Given the description of an element on the screen output the (x, y) to click on. 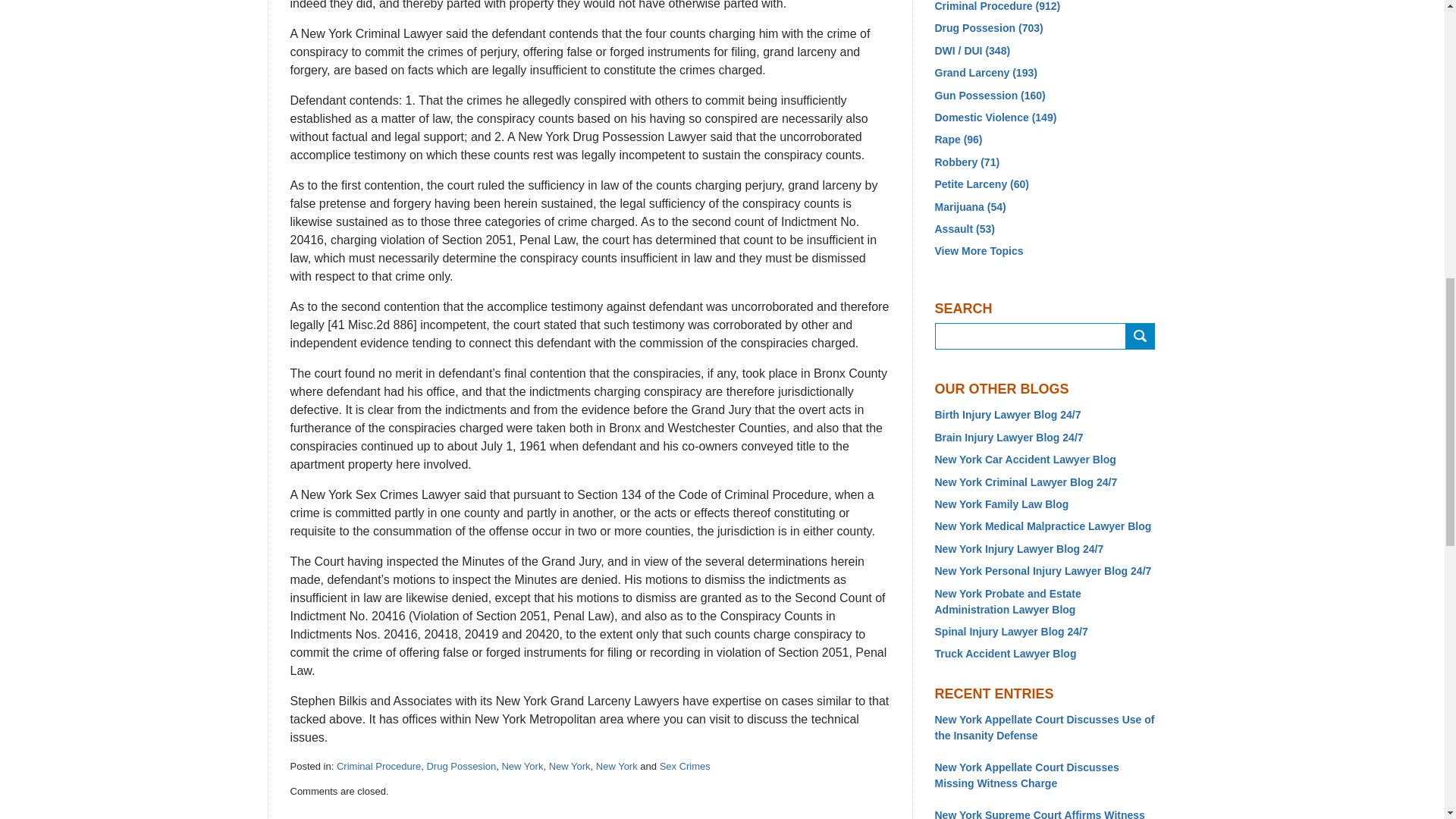
Drug Possesion (461, 766)
New York (521, 766)
New York (616, 766)
Criminal Procedure (378, 766)
View all posts in Drug Possesion (461, 766)
New York (569, 766)
Sex Crimes (684, 766)
View all posts in Criminal Procedure (378, 766)
View all posts in New York (569, 766)
View all posts in New York (616, 766)
View all posts in Sex Crimes (684, 766)
View all posts in New York (521, 766)
